Given the description of an element on the screen output the (x, y) to click on. 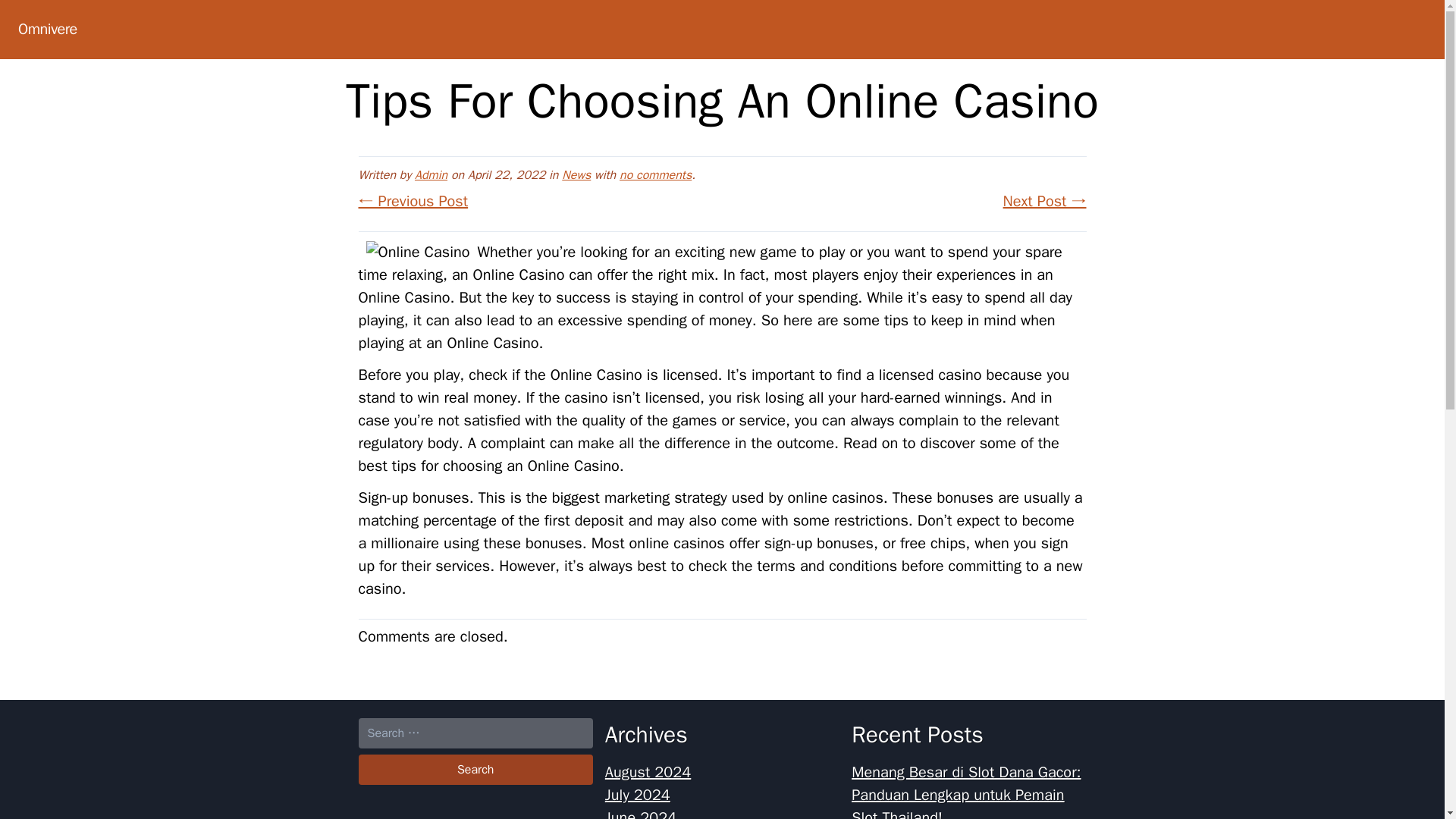
Admin (430, 174)
Omnivere (47, 29)
Search (475, 769)
July 2024 (637, 794)
June 2024 (641, 813)
Search (475, 769)
News (576, 174)
no comments (655, 174)
Search (475, 769)
